Given the description of an element on the screen output the (x, y) to click on. 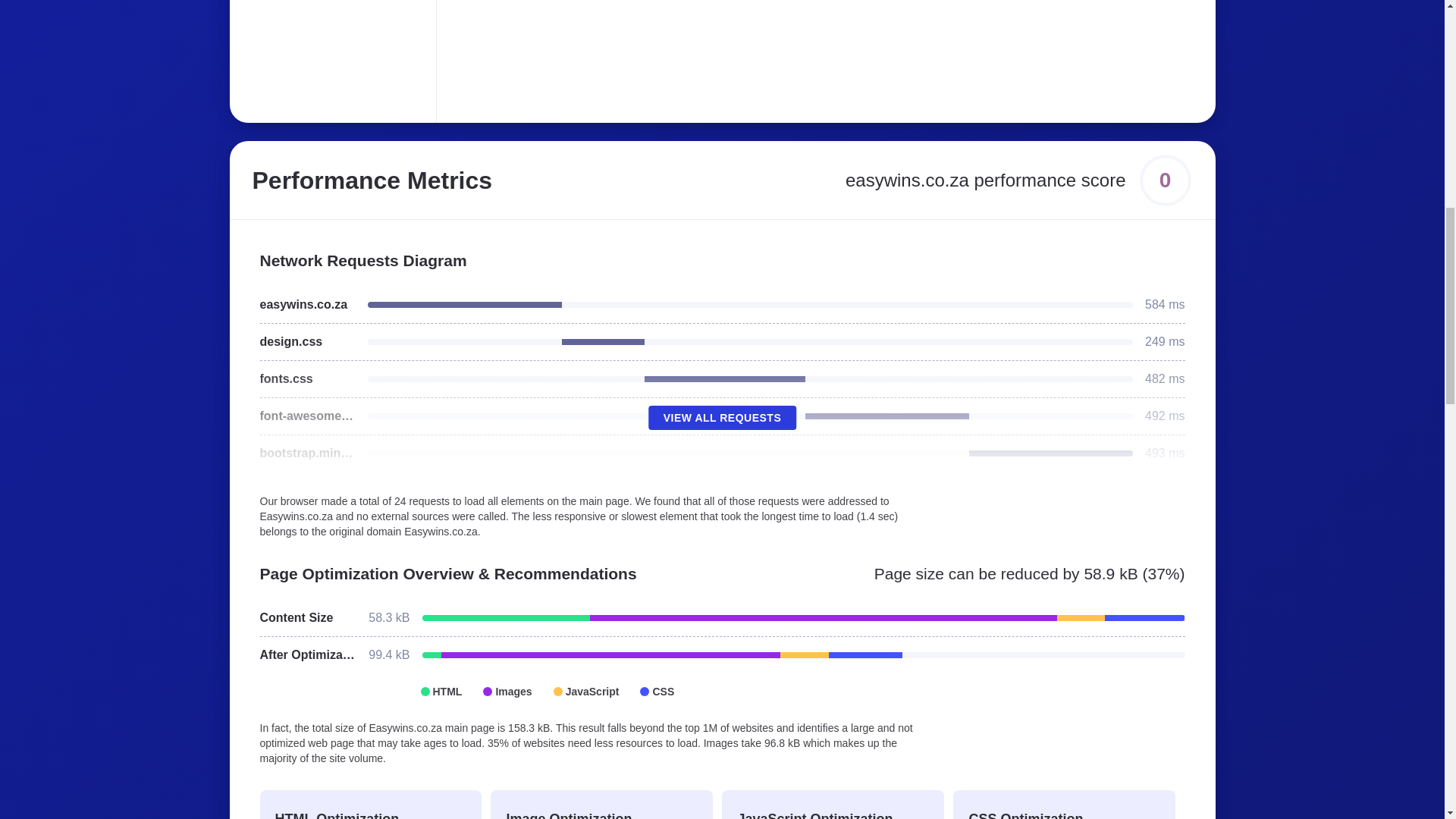
VIEW ALL REQUESTS (721, 417)
